Given the description of an element on the screen output the (x, y) to click on. 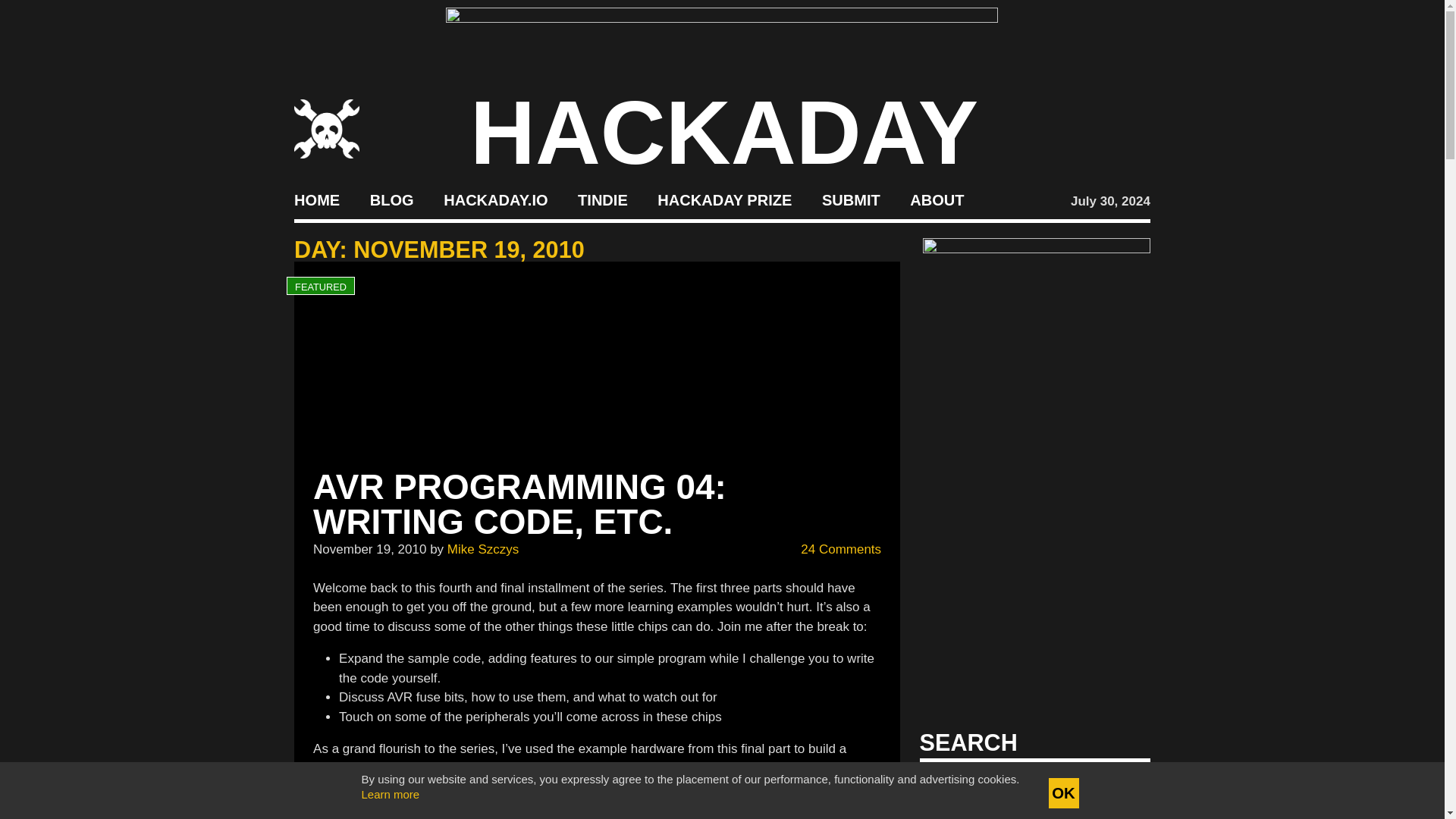
HACKADAY PRIZE (725, 200)
Mike Szczys (482, 548)
24 Comments (832, 549)
ABOUT (936, 200)
SUBMIT (851, 200)
Build Something that Matters (725, 200)
HACKADAY.IO (495, 200)
BLOG (391, 200)
AVR PROGRAMMING 04: WRITING CODE, ETC. (519, 503)
November 19, 2010 - 3:00 pm (369, 548)
Search (1115, 787)
HOME (316, 200)
Posts by Mike Szczys (482, 548)
TINDIE (602, 200)
Search (1115, 787)
